Given the description of an element on the screen output the (x, y) to click on. 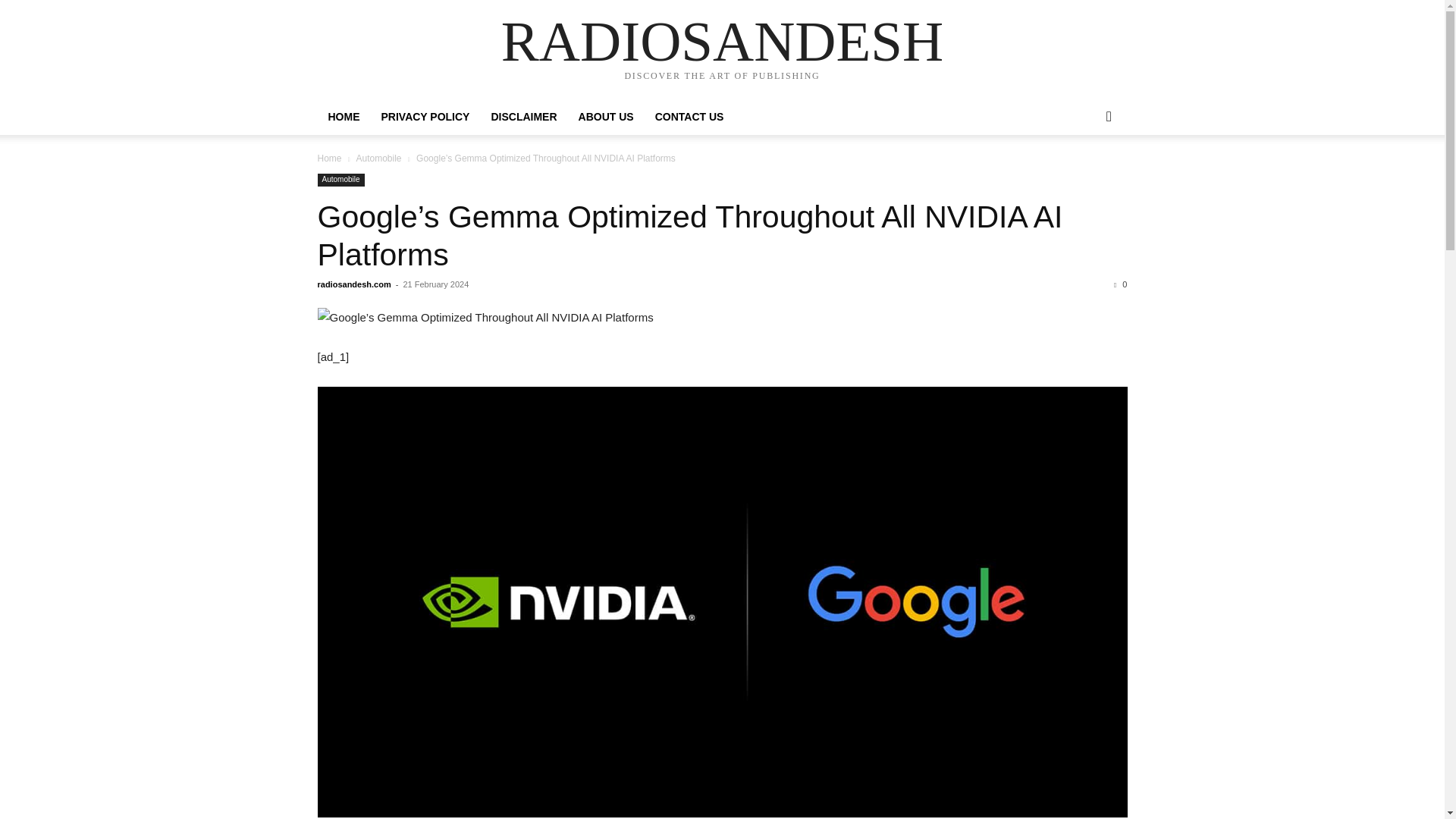
ABOUT US (606, 116)
CONTACT US (690, 116)
Automobile (340, 179)
View all posts in Automobile (378, 158)
RADIOSANDESH (721, 41)
HOME (343, 116)
0 (1119, 284)
PRIVACY POLICY (424, 116)
Home (328, 158)
DISCLAIMER (523, 116)
Search (1085, 177)
radiosandesh.com (353, 284)
Automobile (378, 158)
